Given the description of an element on the screen output the (x, y) to click on. 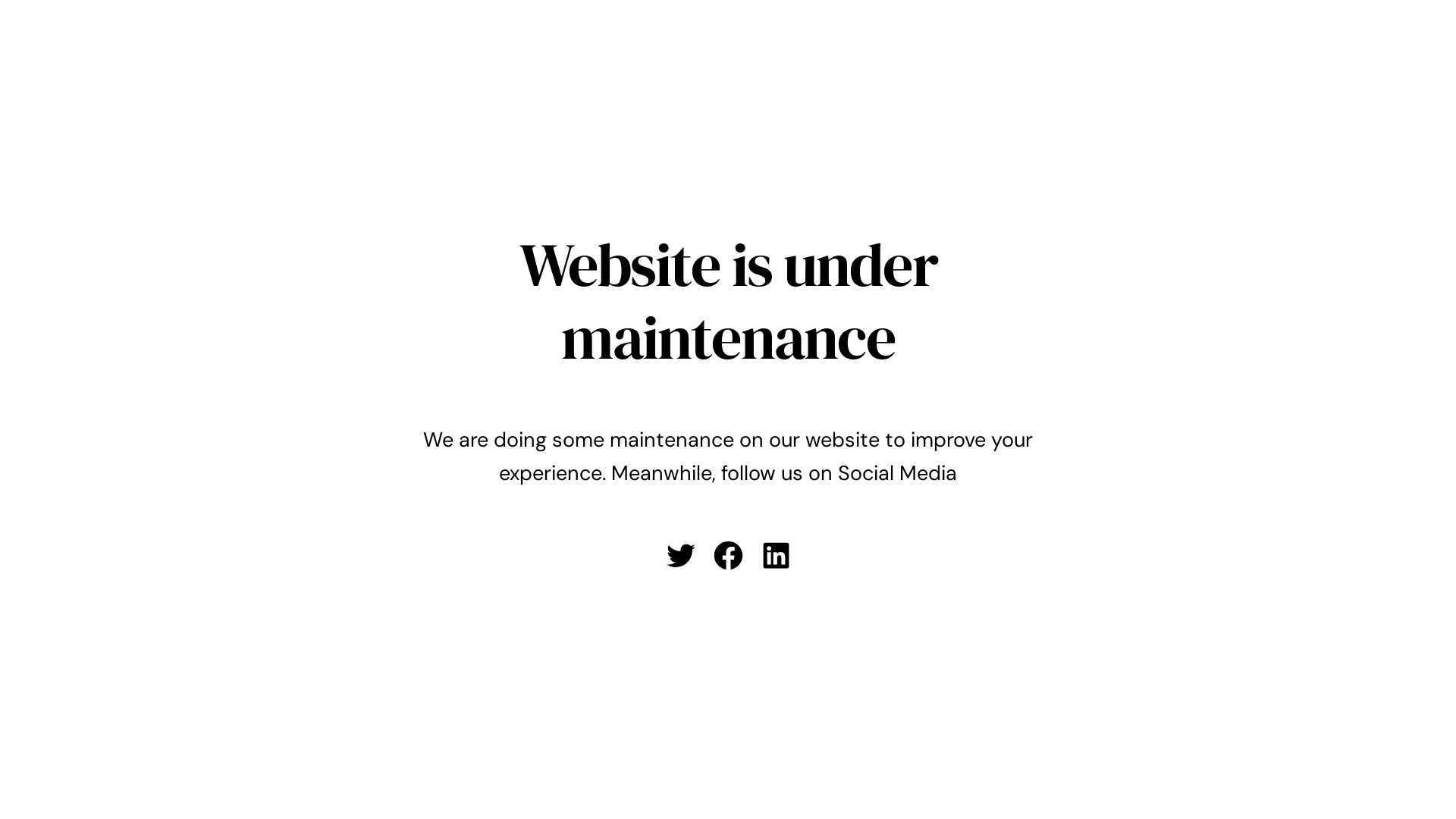
LinkedIn Element type: text (775, 555)
Twitter Element type: text (679, 555)
Facebook Element type: text (728, 555)
